Given the description of an element on the screen output the (x, y) to click on. 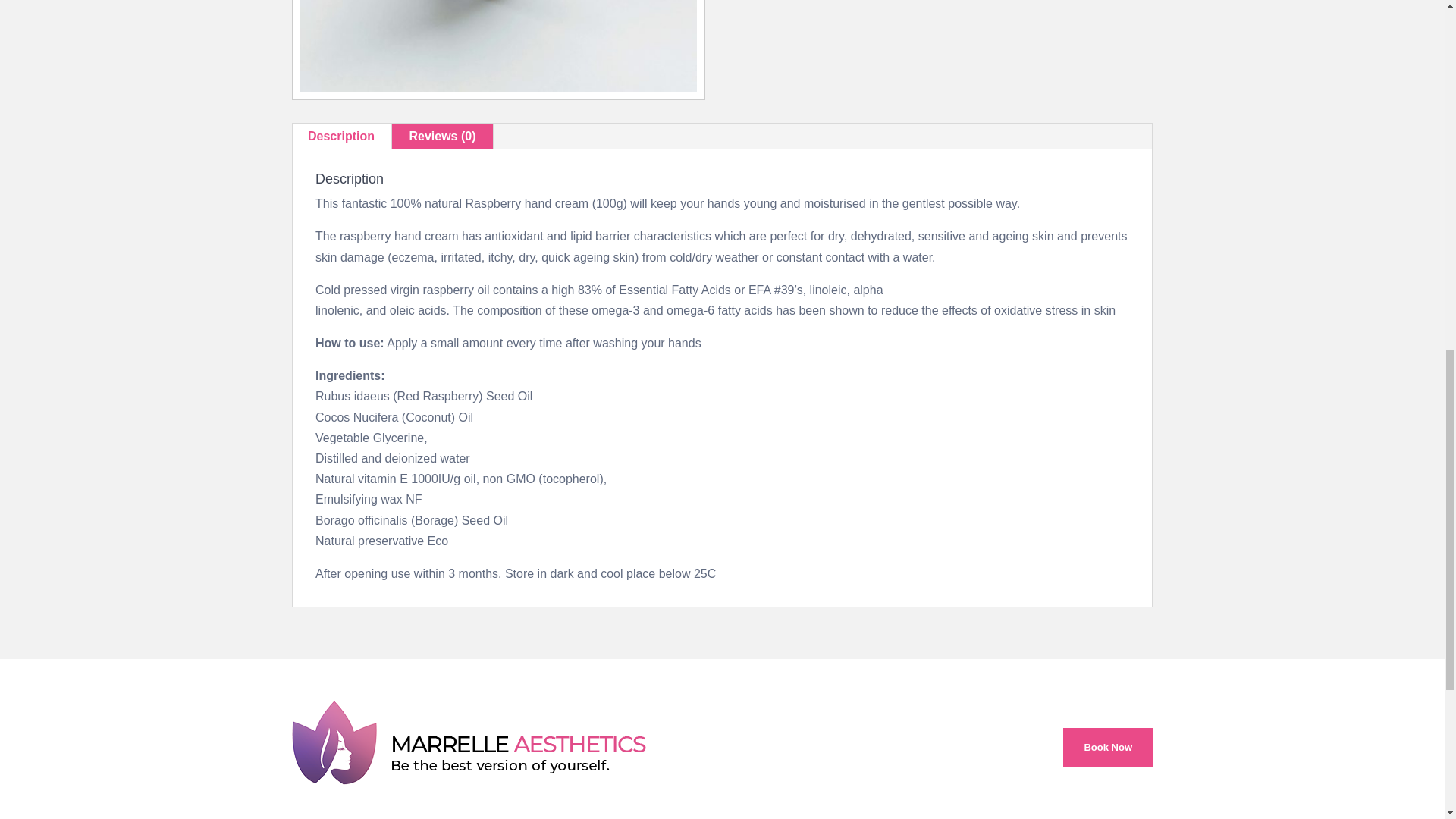
Description (341, 136)
